Given the description of an element on the screen output the (x, y) to click on. 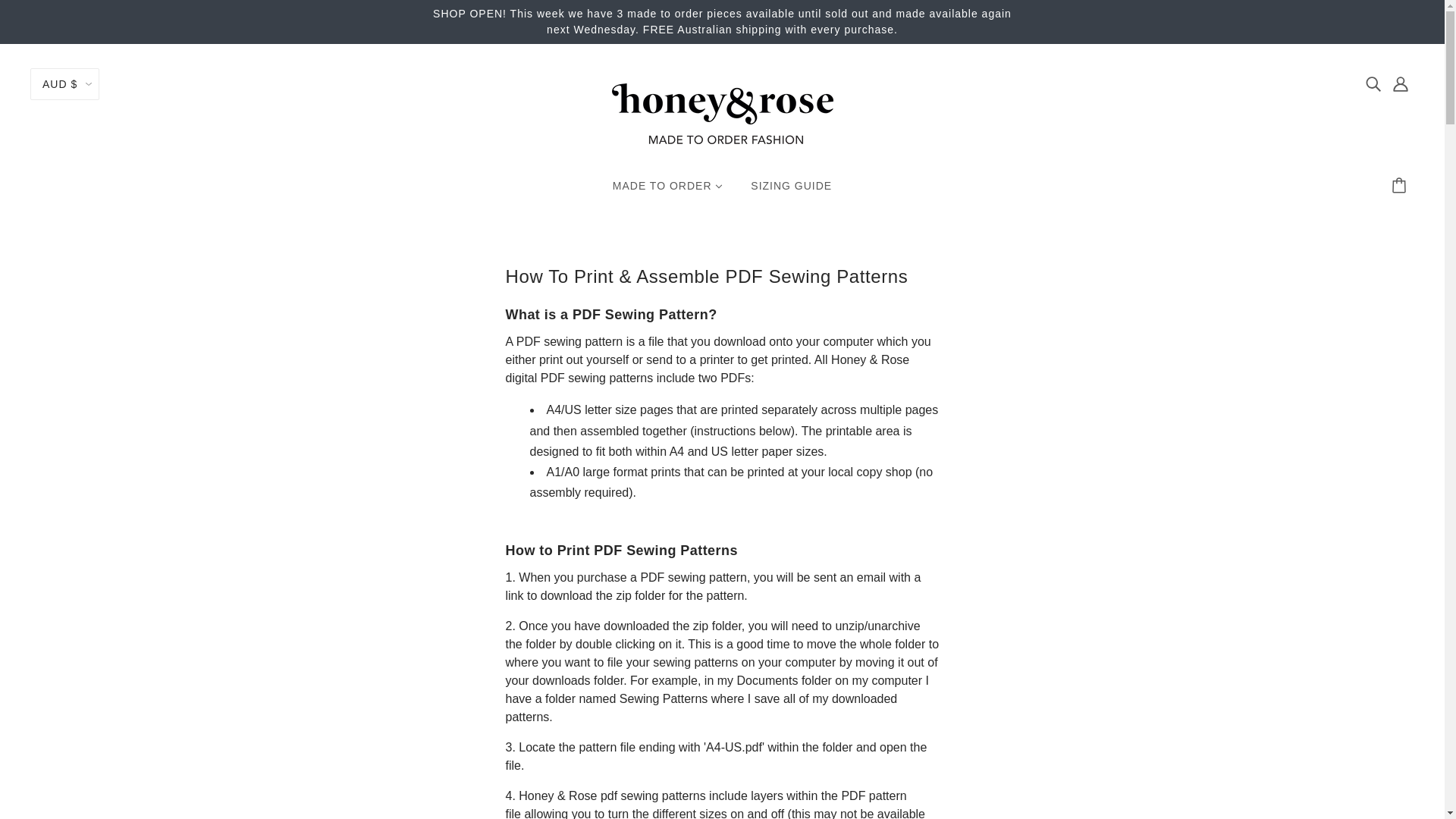
MADE TO ORDER (667, 191)
SIZING GUIDE (791, 191)
